Given the description of an element on the screen output the (x, y) to click on. 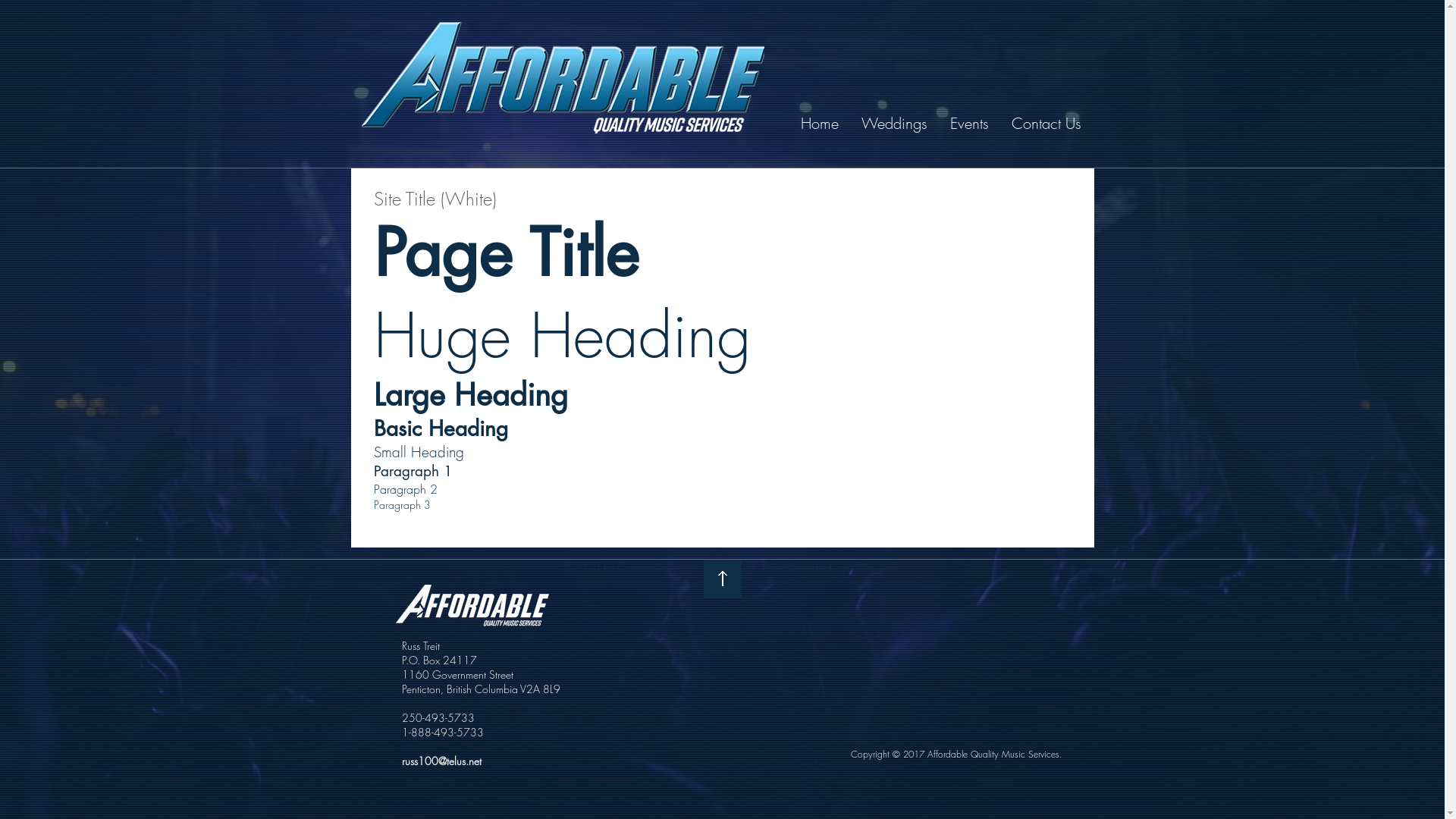
Wix.com Element type: text (875, 566)
Home Element type: text (819, 123)
Weddings Element type: text (894, 123)
Contact Us Element type: text (1046, 123)
Affordable Music Element type: hover (561, 77)
russ100@telus.net Element type: text (441, 760)
Events Element type: text (969, 123)
